Given the description of an element on the screen output the (x, y) to click on. 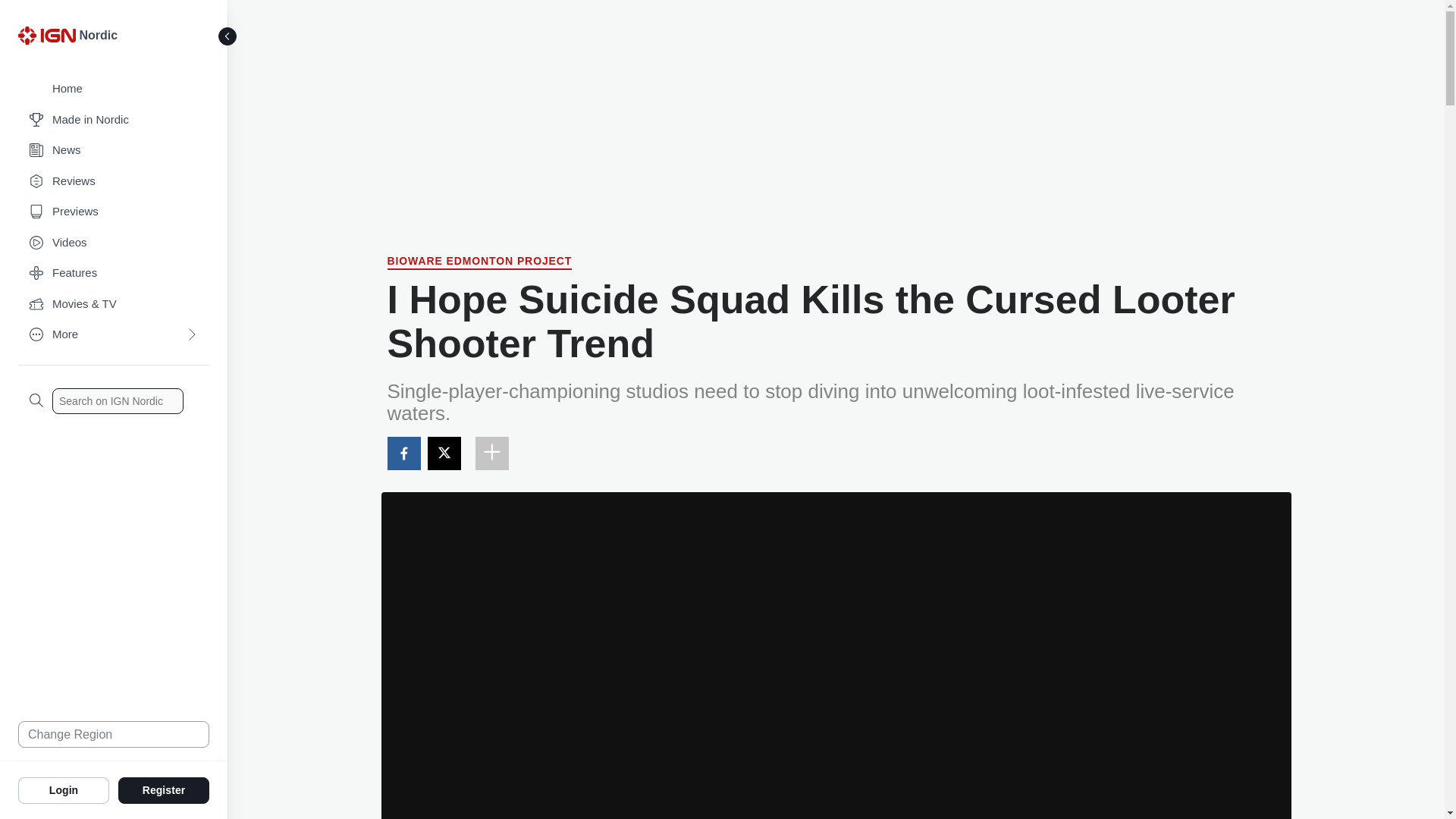
Previews (113, 211)
Login (63, 789)
News (113, 150)
Features (113, 273)
More (113, 334)
Reviews (113, 181)
Videos (113, 242)
Register (163, 789)
Made in Nordic (113, 119)
IGN Logo (46, 34)
Toggle Sidebar (226, 36)
IGN Logo (48, 39)
Home (113, 89)
BioWare Edmonton Project (479, 262)
BIOWARE EDMONTON PROJECT (479, 262)
